Given the description of an element on the screen output the (x, y) to click on. 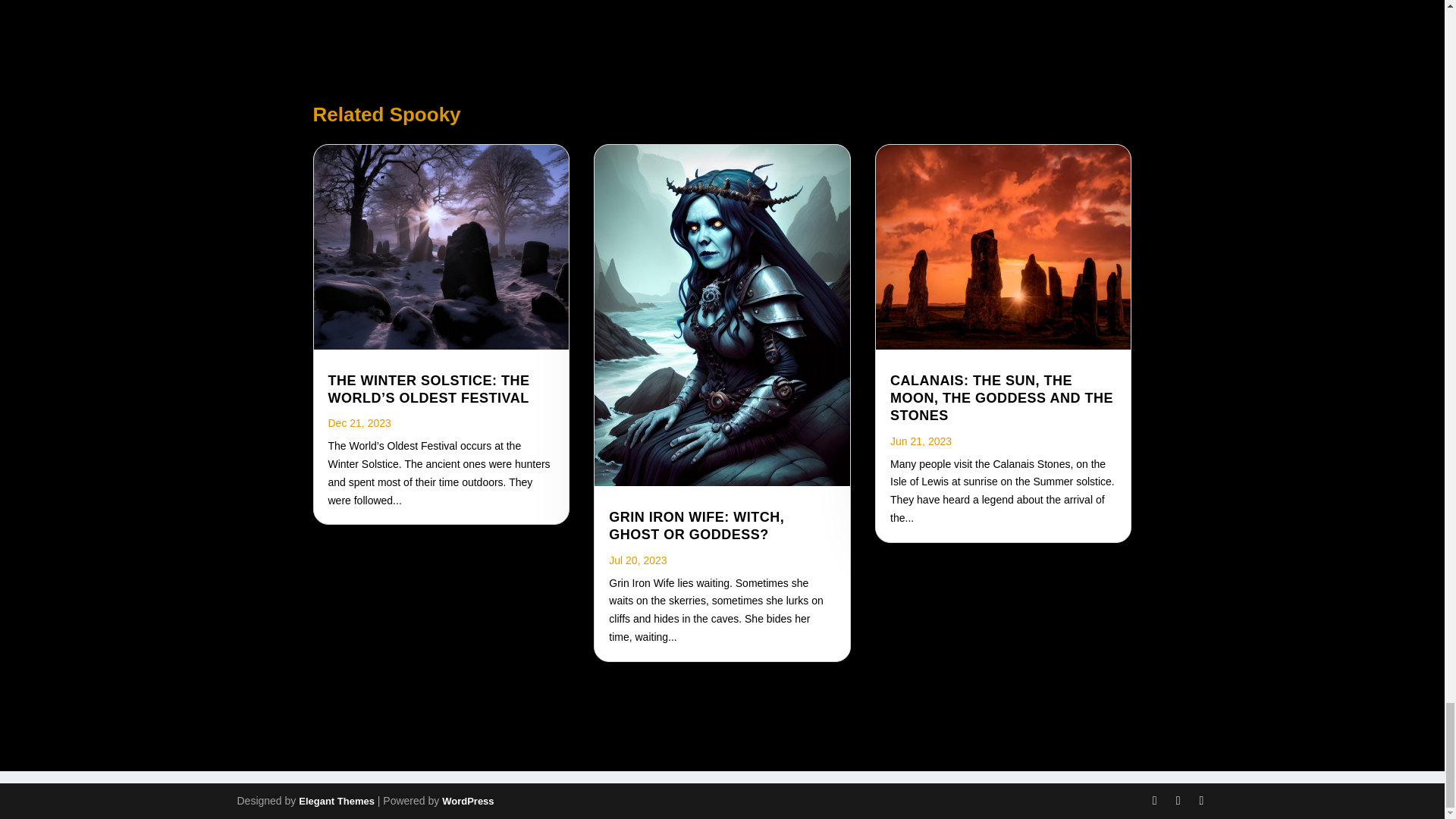
CALANAIS: THE SUN, THE MOON, THE GODDESS AND THE STONES (1001, 398)
WordPress (467, 800)
Premium WordPress Themes (336, 800)
Elegant Themes (336, 800)
GRIN IRON WIFE: WITCH, GHOST OR GODDESS? (696, 525)
